Given the description of an element on the screen output the (x, y) to click on. 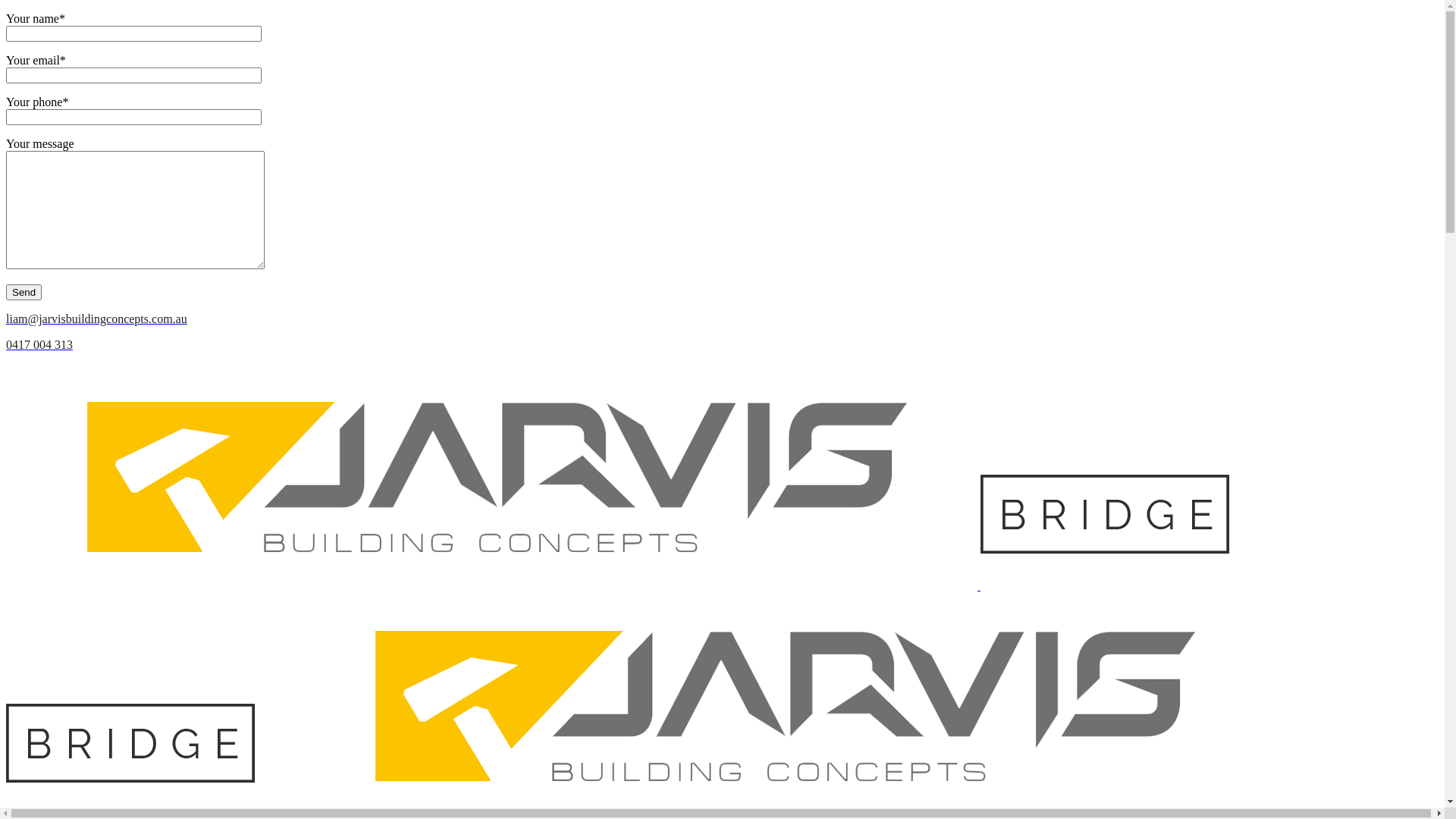
Send Element type: text (23, 292)
liam@jarvisbuildingconcepts.com.au Element type: text (722, 319)
0417 004 313 Element type: text (722, 344)
